Given the description of an element on the screen output the (x, y) to click on. 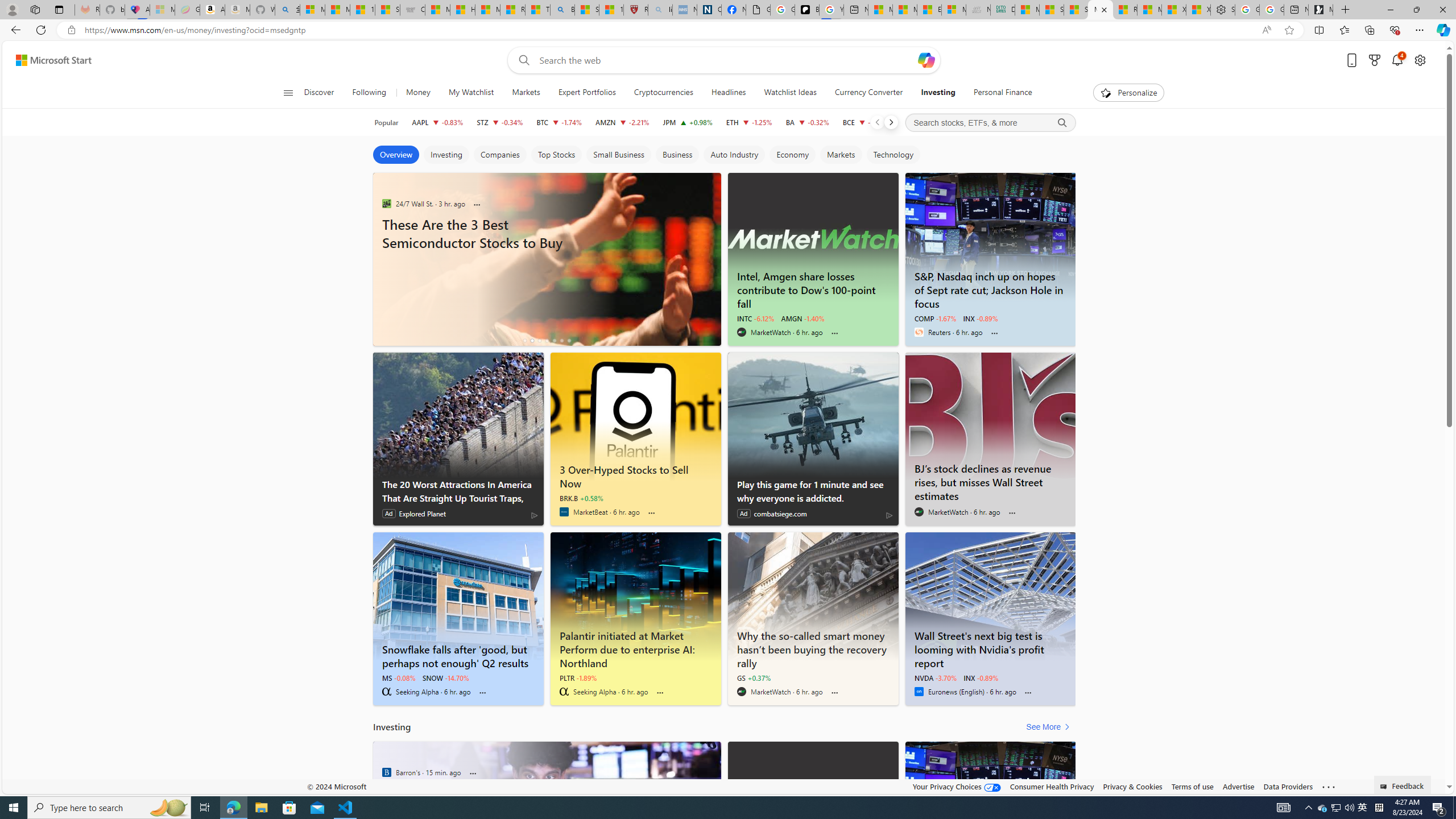
Data Providers (1288, 785)
Personal Finance (997, 92)
See More (1049, 726)
Reuters (918, 331)
Investing (937, 92)
